Given the description of an element on the screen output the (x, y) to click on. 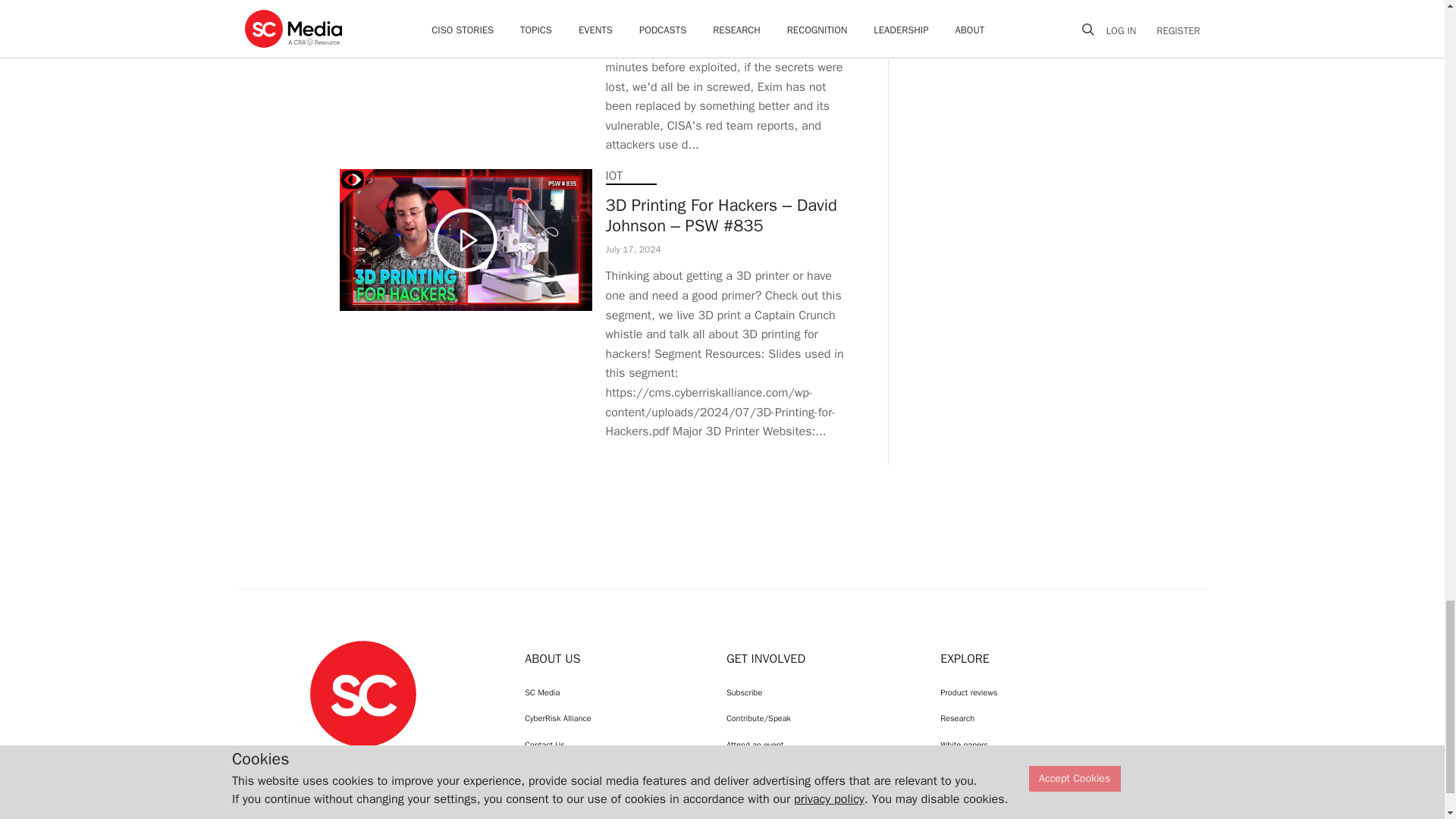
SC Media (362, 693)
SCMagazine on LinkedIn (401, 760)
SCMagazine on Facebook (324, 760)
SCMagazine on Twitter (362, 760)
